Given the description of an element on the screen output the (x, y) to click on. 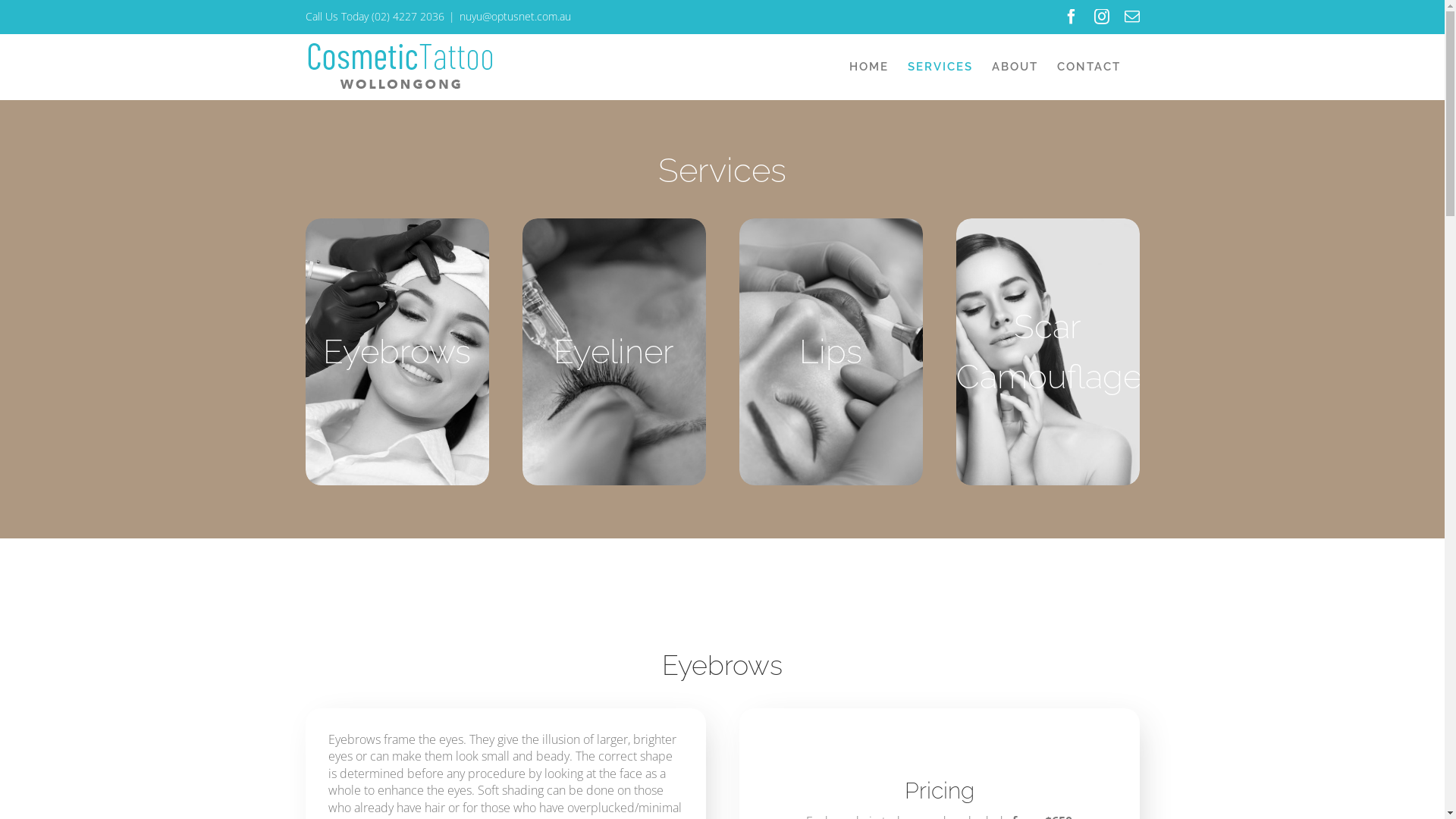
Facebook Element type: text (1070, 16)
(02) 4227 2036 Element type: text (407, 16)
HOME Element type: text (868, 66)
CONTACT Element type: text (1088, 66)
Instagram Element type: text (1100, 16)
nuyu@optusnet.com.au Element type: text (515, 16)
SERVICES Element type: text (939, 66)
Email Element type: text (1131, 16)
ABOUT Element type: text (1014, 66)
